Given the description of an element on the screen output the (x, y) to click on. 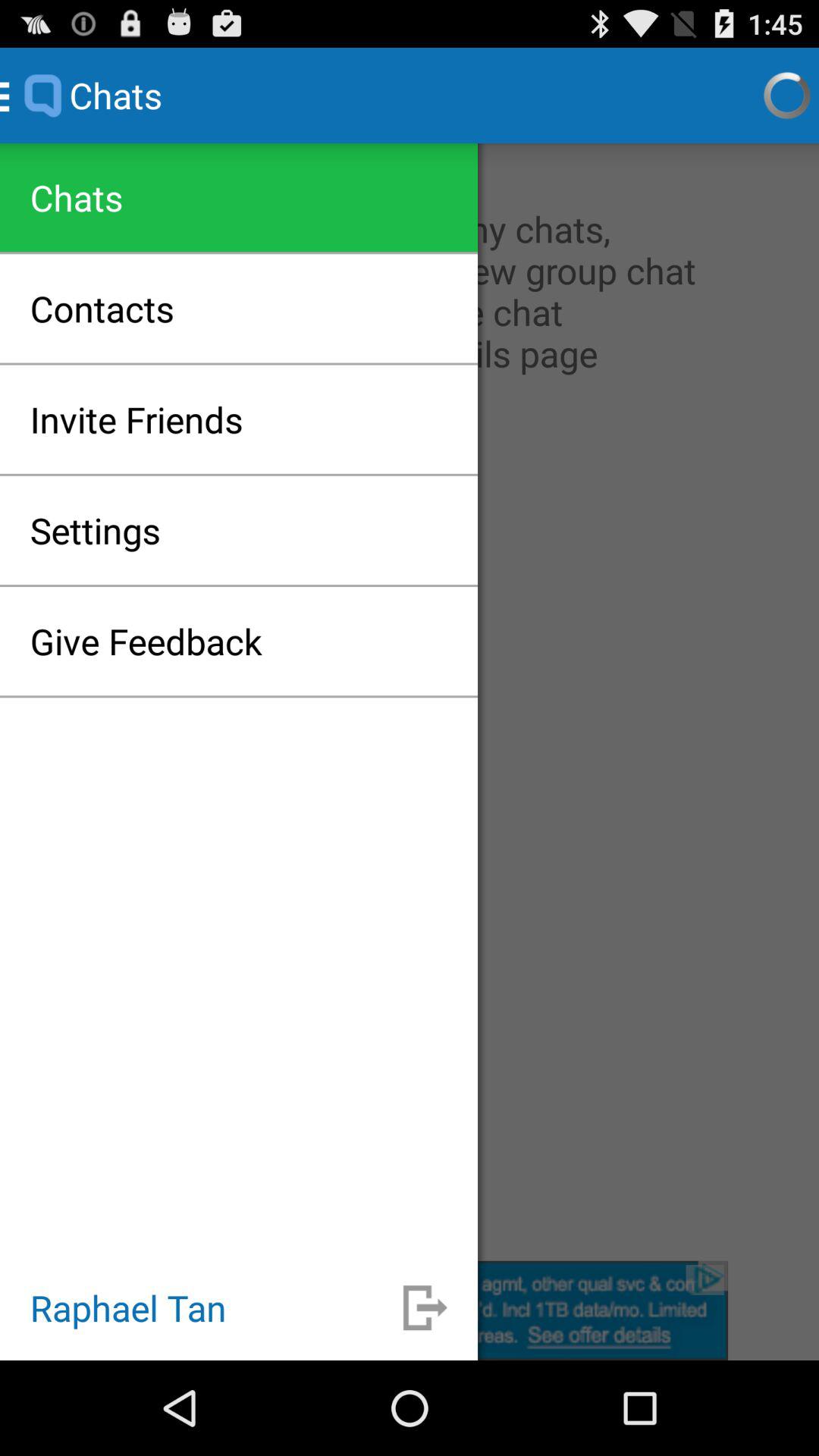
expandable icon (425, 1307)
